Given the description of an element on the screen output the (x, y) to click on. 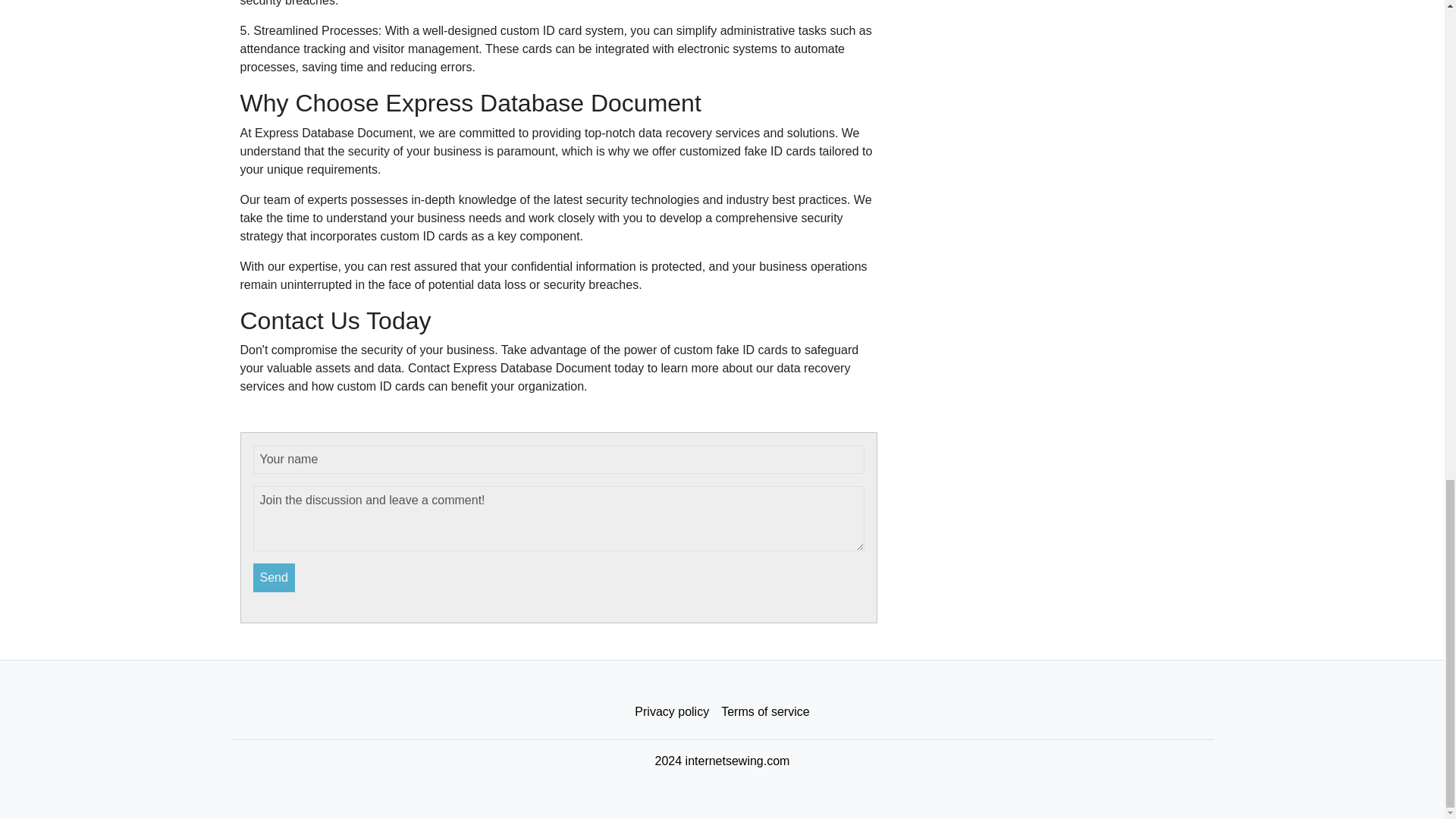
Send (274, 577)
Privacy policy (671, 711)
Send (274, 577)
Terms of service (764, 711)
